Given the description of an element on the screen output the (x, y) to click on. 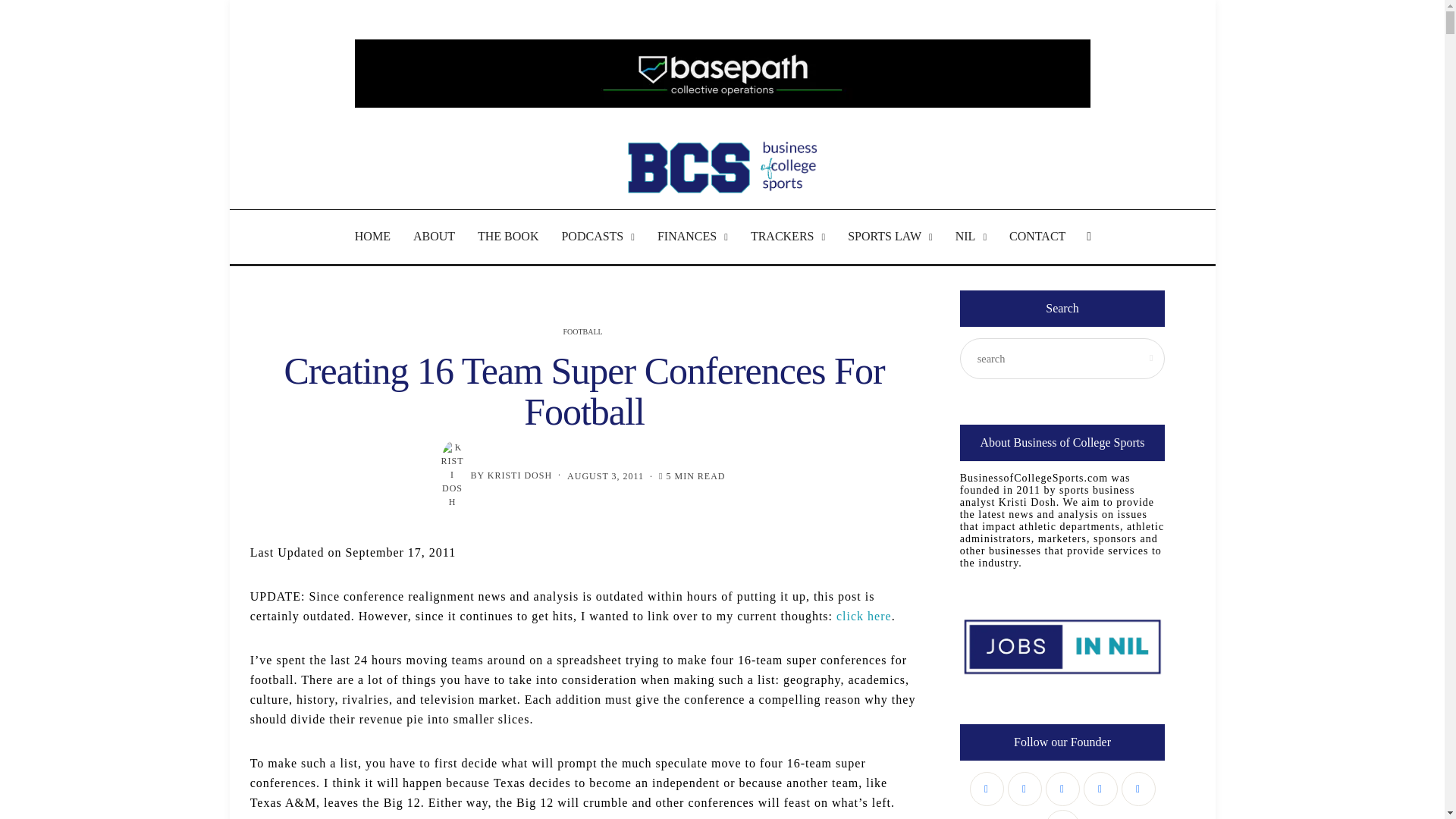
Posts by Kristi Dosh (519, 474)
